Given the description of an element on the screen output the (x, y) to click on. 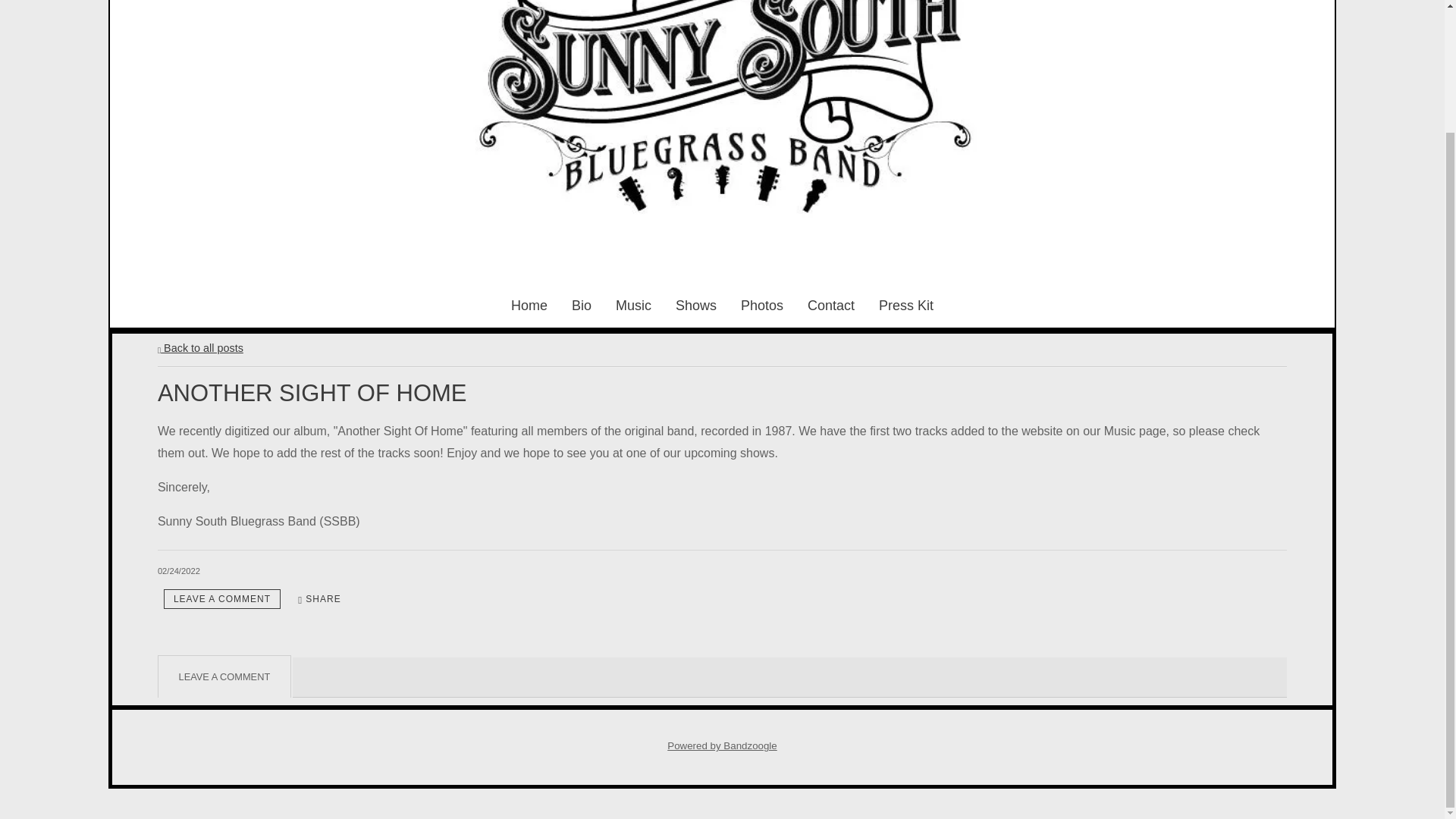
Contact (831, 305)
Music (632, 305)
Powered by Bandzoogle (721, 745)
Share Another Sight Of Home (319, 599)
Home (529, 305)
Powered by Bandzoogle (721, 745)
LEAVE A COMMENT (222, 598)
Photos (762, 305)
Press Kit (906, 305)
Bio (581, 305)
Shows (695, 305)
Back to all posts (200, 347)
SHARE (319, 599)
Leave a comment (222, 598)
February 24, 2022 21:26 (178, 570)
